Given the description of an element on the screen output the (x, y) to click on. 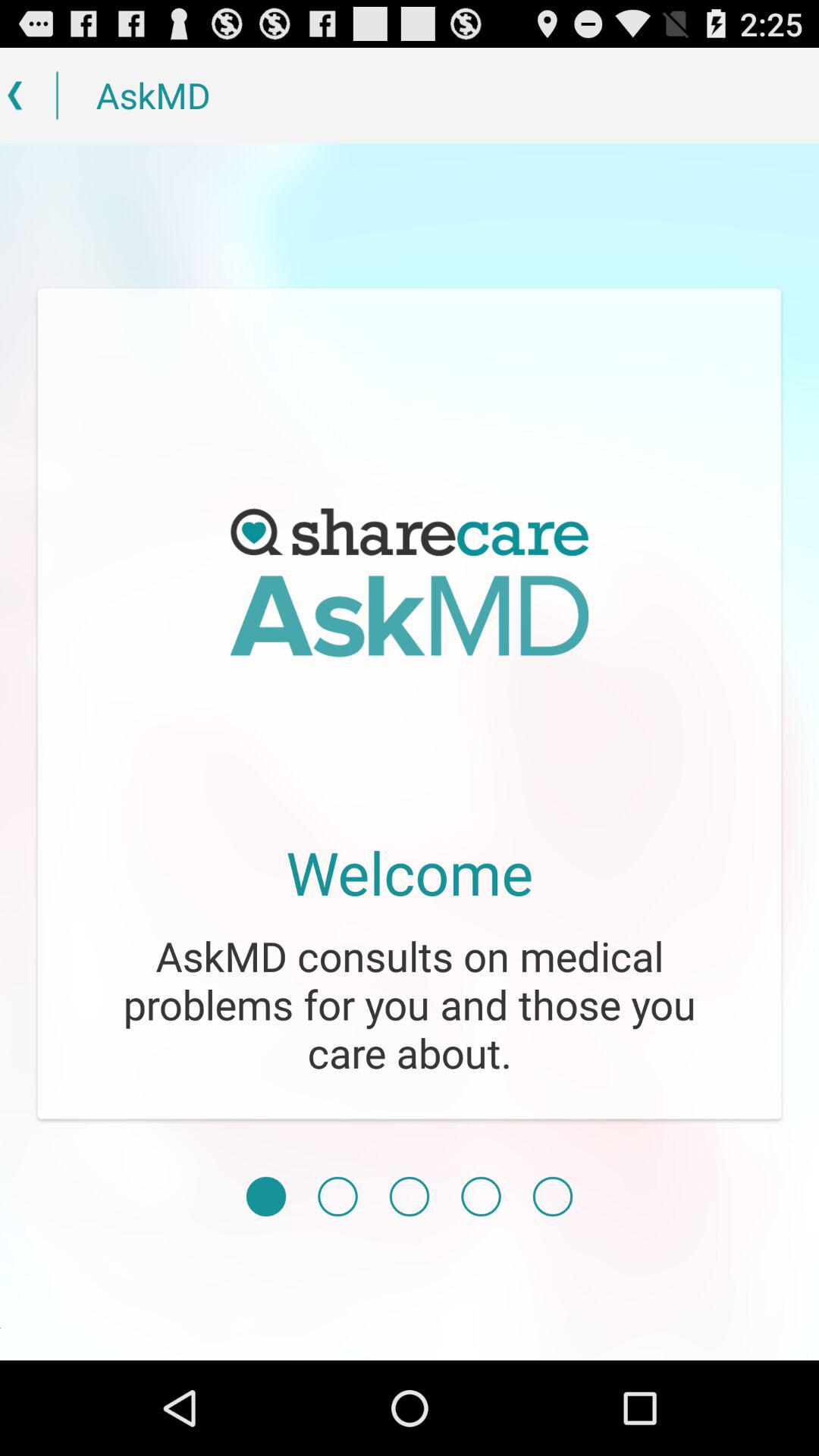
turn on icon below the askmd consults on item (480, 1196)
